Given the description of an element on the screen output the (x, y) to click on. 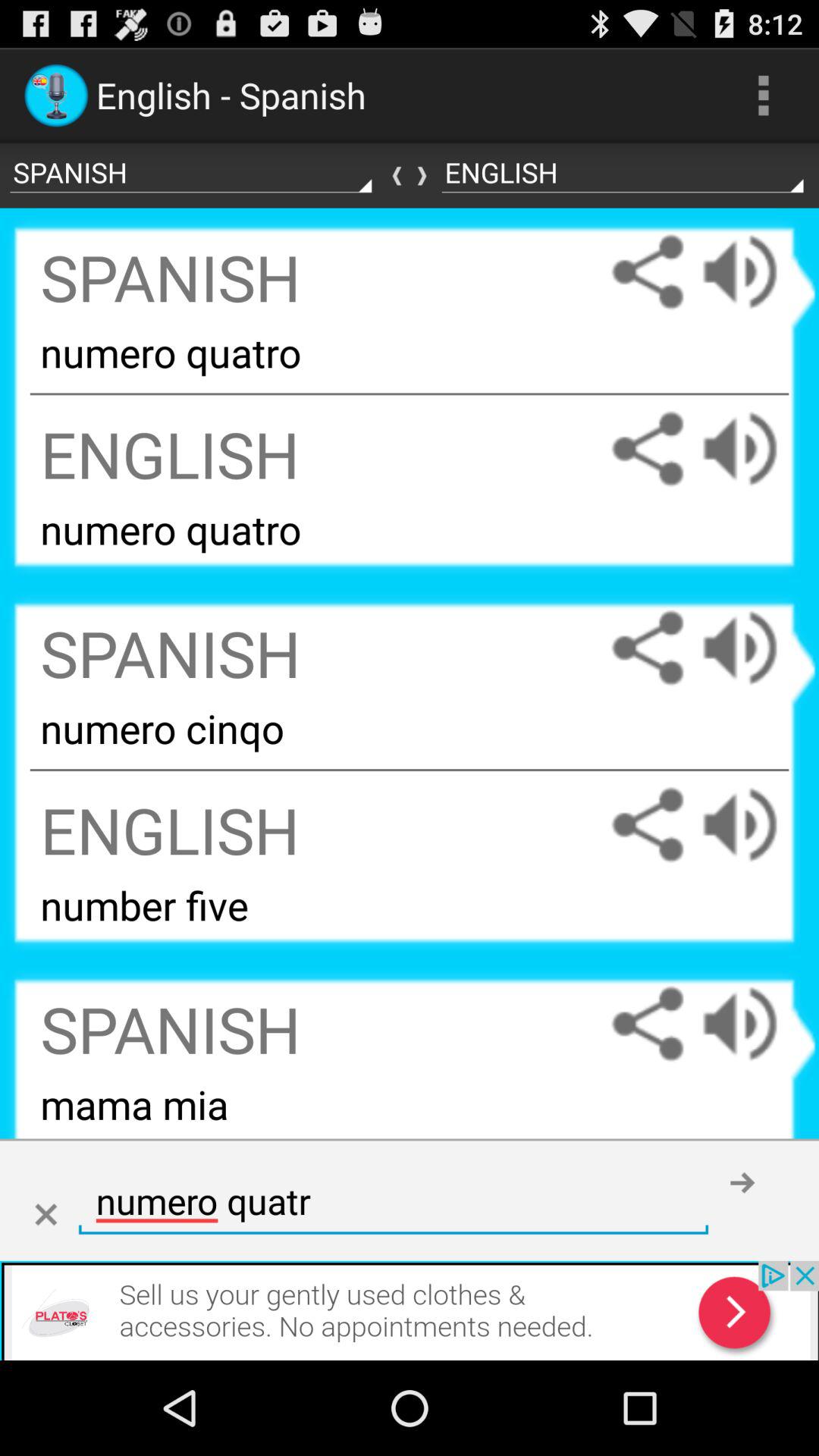
speaker button (754, 271)
